Given the description of an element on the screen output the (x, y) to click on. 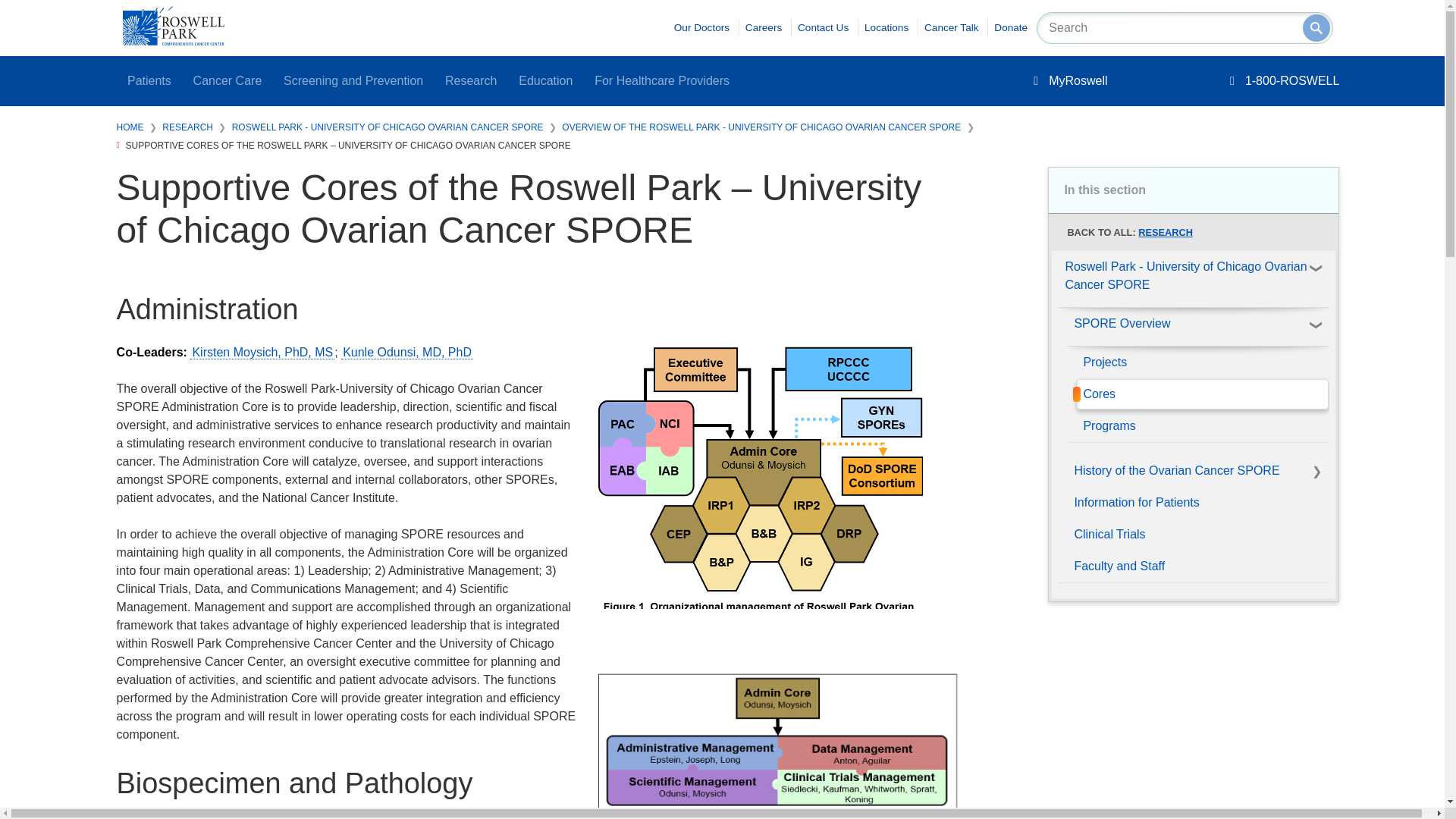
Home (173, 41)
Patients (149, 81)
